Given the description of an element on the screen output the (x, y) to click on. 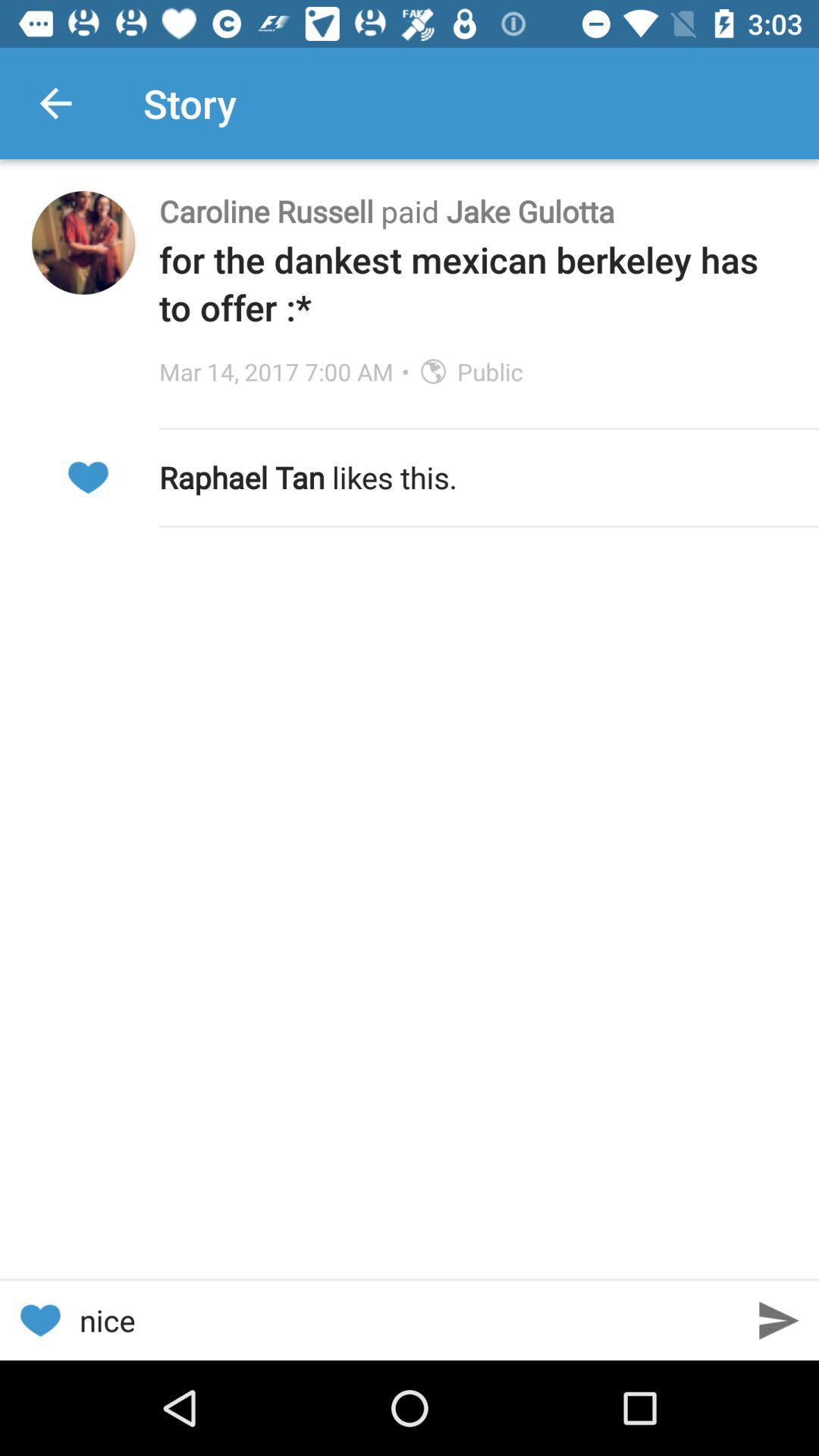
turn on the item below story app (473, 211)
